Given the description of an element on the screen output the (x, y) to click on. 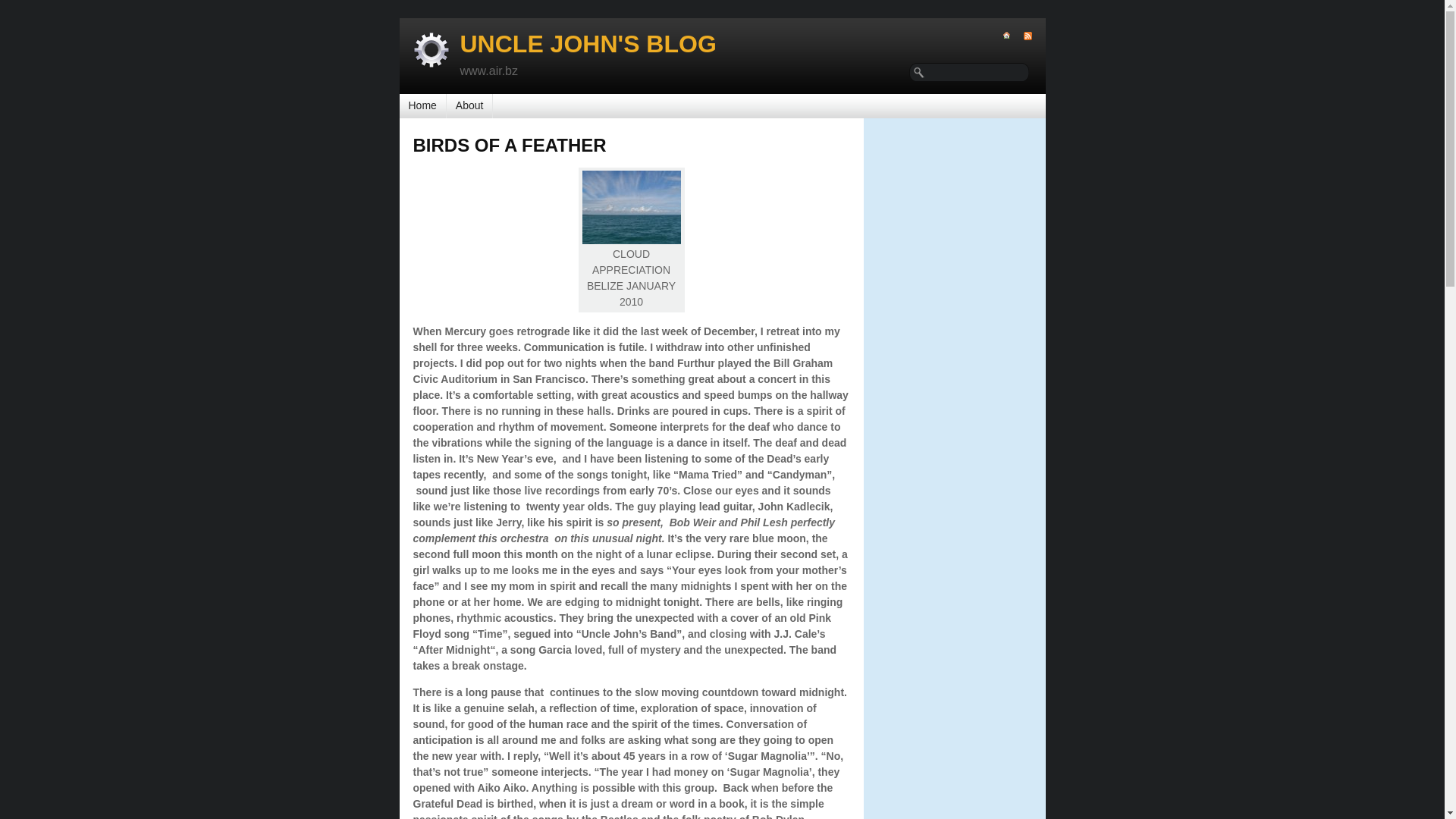
About Element type: text (469, 105)
Home Element type: text (421, 105)
RSS link Element type: hover (1021, 35)
UNCLE JOHN'S BLOG Element type: text (587, 43)
CLOUD APPRECIATION BELIZE JANUARY 2010 Element type: hover (631, 206)
